Given the description of an element on the screen output the (x, y) to click on. 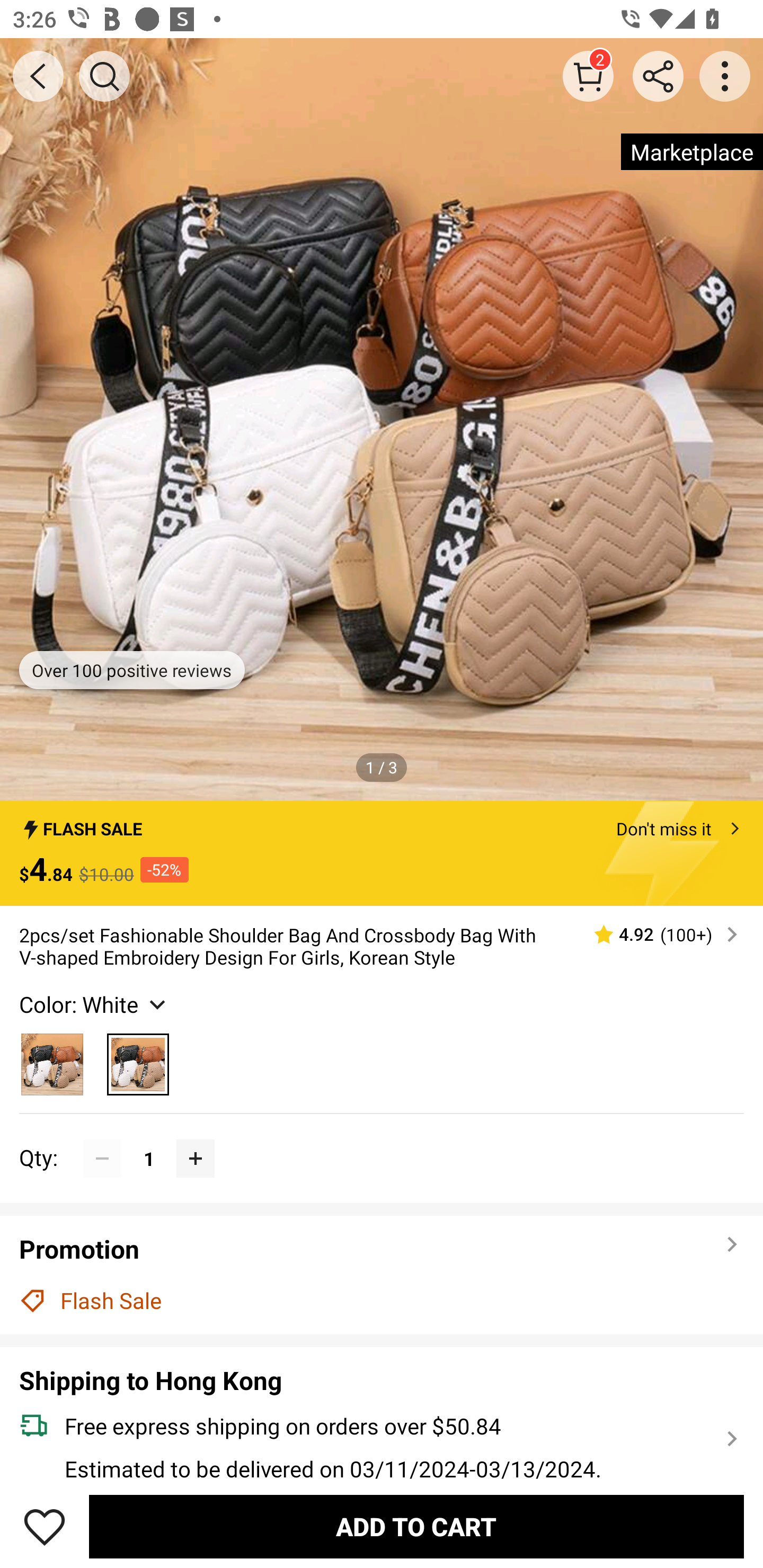
PHOTOS Marketplace Over 100 positive reviews 1 / 3 (381, 419)
BACK (38, 75)
2 (588, 75)
1 / 3 (381, 766)
FLASH SALE Don't miss it $4.84 $10.00 -52% (381, 853)
FLASH SALE Don't miss it (381, 823)
4.92 (100‎+) (658, 934)
Color: White (94, 1004)
Black (52, 1059)
White (138, 1059)
Qty: 1 (381, 1138)
Promotion Flash Sale (381, 1274)
ADD TO CART (416, 1526)
Save (44, 1526)
